Given the description of an element on the screen output the (x, y) to click on. 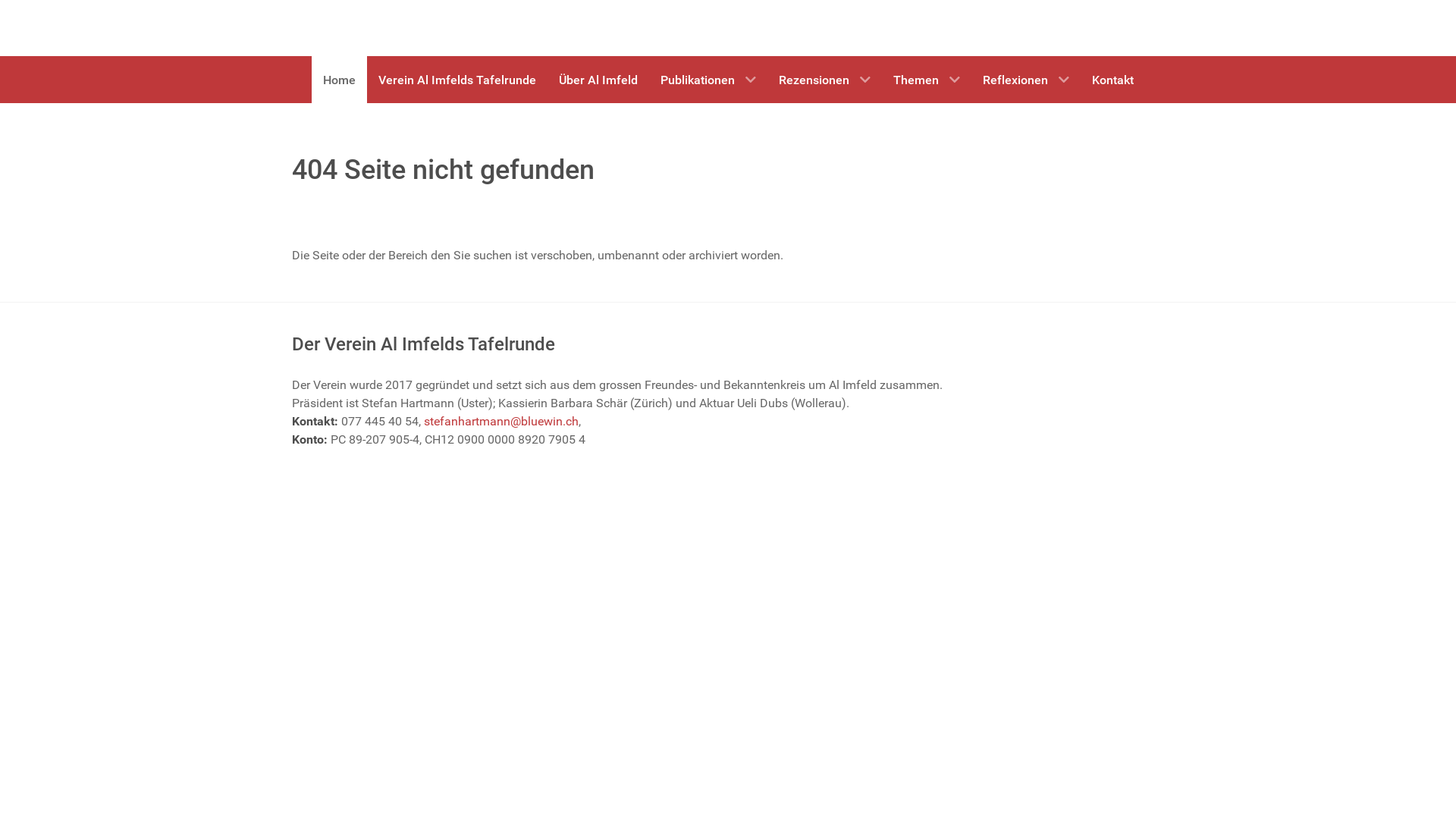
stefanhartmann@bluewin.ch Element type: text (500, 421)
Reflexionen Element type: text (1024, 79)
Kontakt Element type: text (1111, 79)
Rezensionen Element type: text (824, 79)
Publikationen Element type: text (708, 79)
Themen Element type: text (925, 79)
Verein Al Imfelds Tafelrunde Element type: text (457, 79)
Home Element type: text (338, 79)
